Given the description of an element on the screen output the (x, y) to click on. 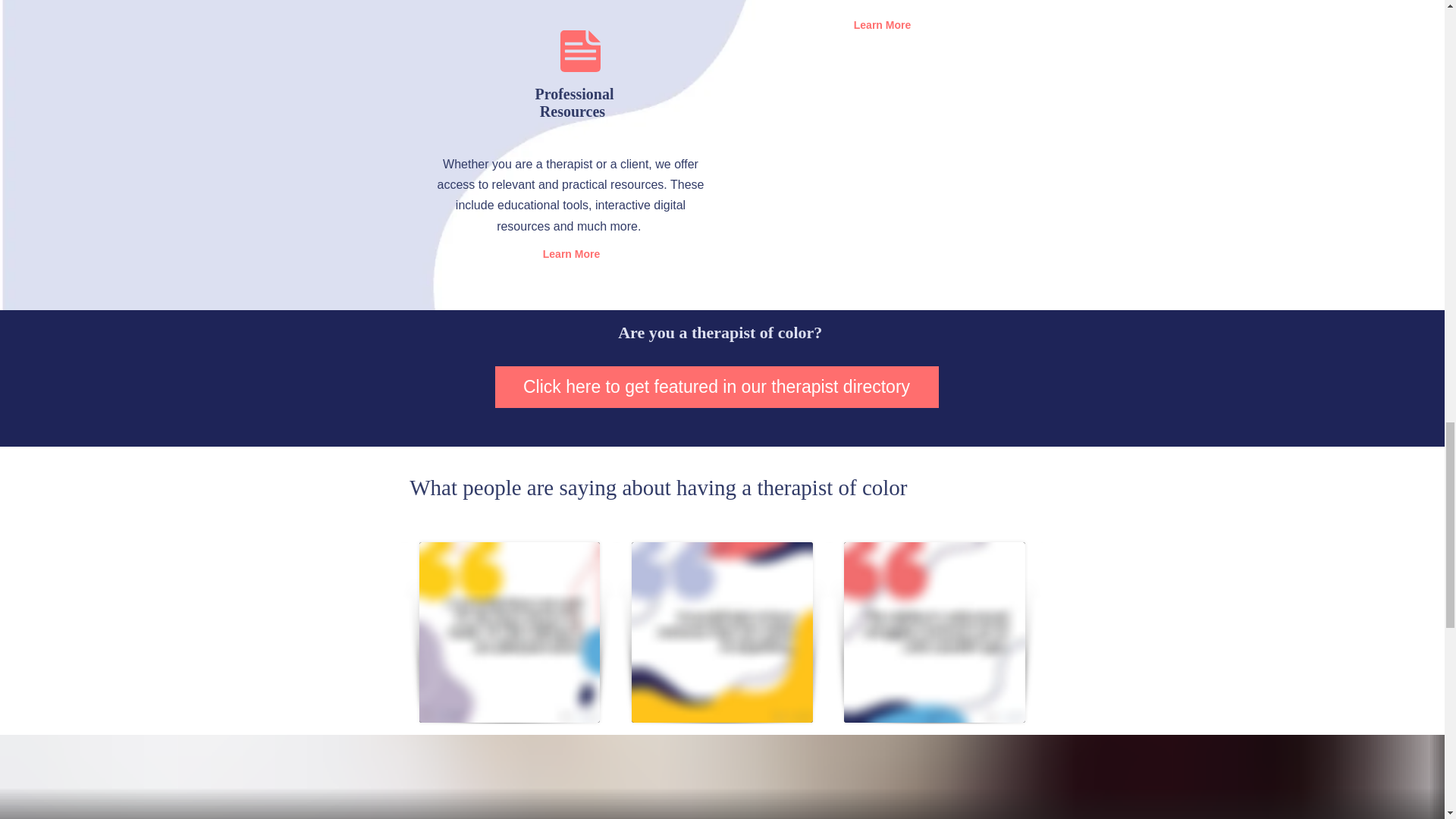
Learn More (570, 254)
Learn More (882, 25)
Click here to get featured in our therapist directory (716, 386)
